Given the description of an element on the screen output the (x, y) to click on. 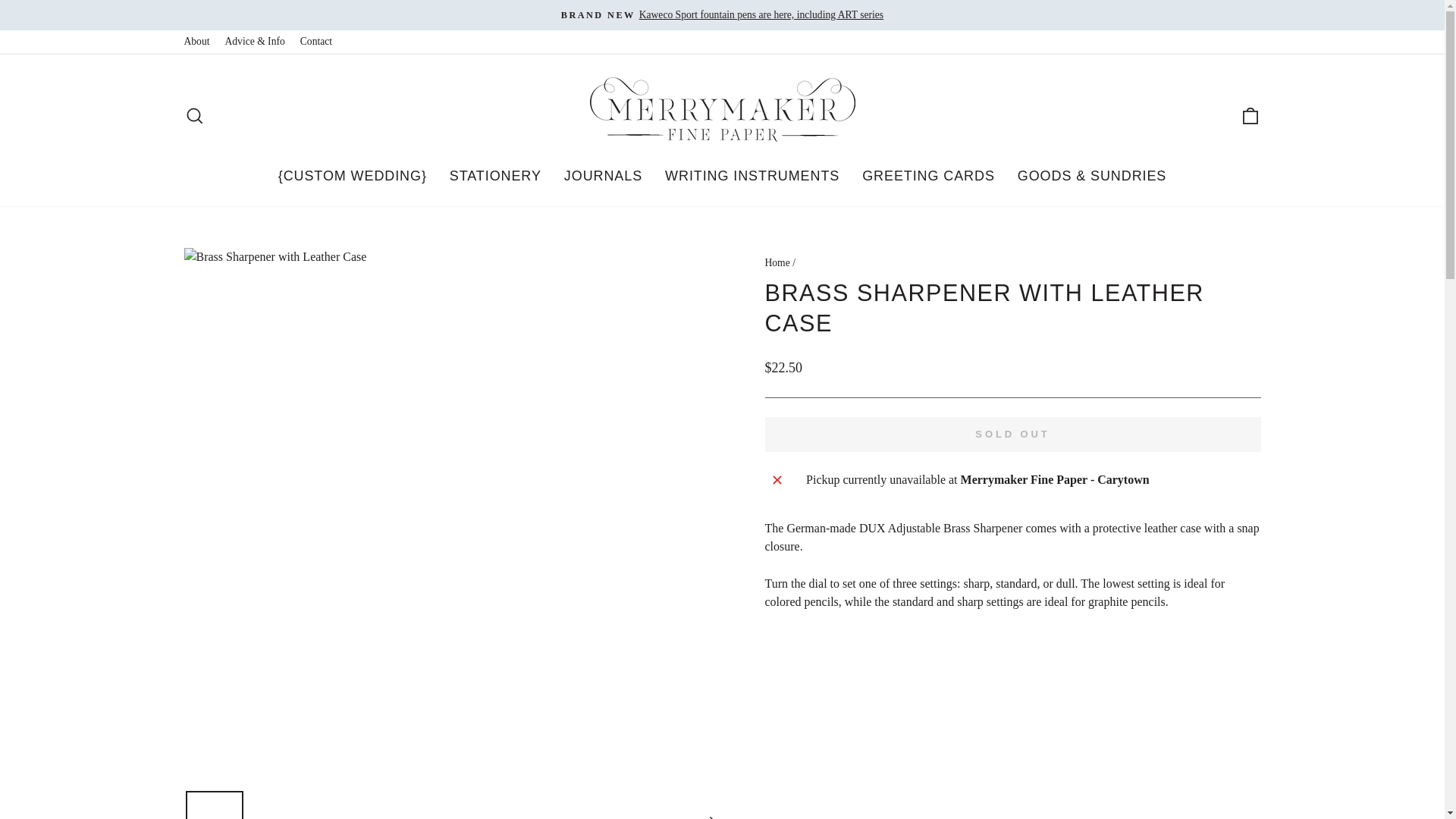
Back to the frontpage (776, 262)
